Given the description of an element on the screen output the (x, y) to click on. 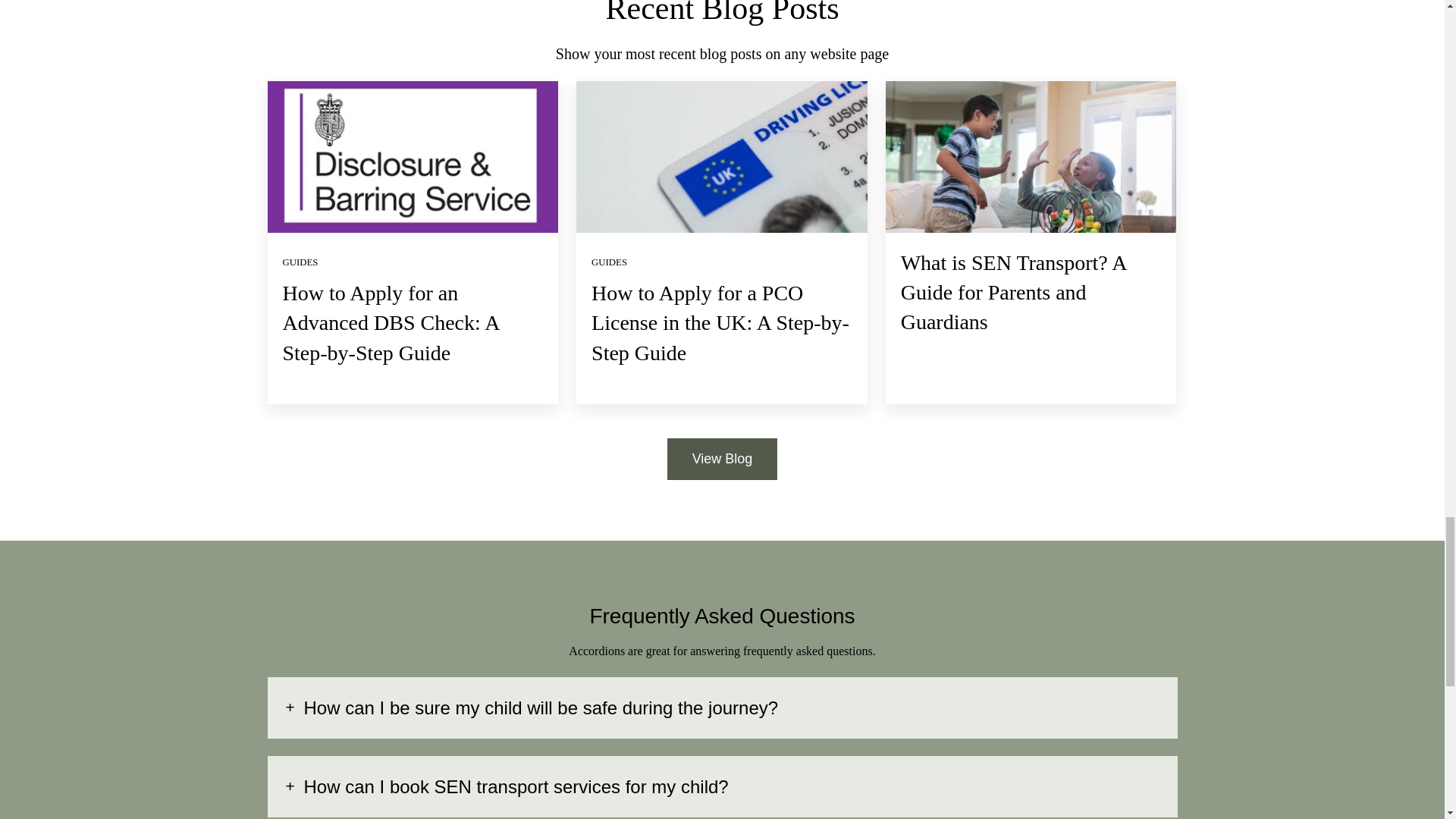
GUIDES (299, 262)
GUIDES (609, 262)
How to Apply for an Advanced DBS Check: A Step-by-Step Guide (389, 322)
View Blog (721, 458)
What is SEN Transport? A Guide for Parents and Guardians (1013, 291)
